Given the description of an element on the screen output the (x, y) to click on. 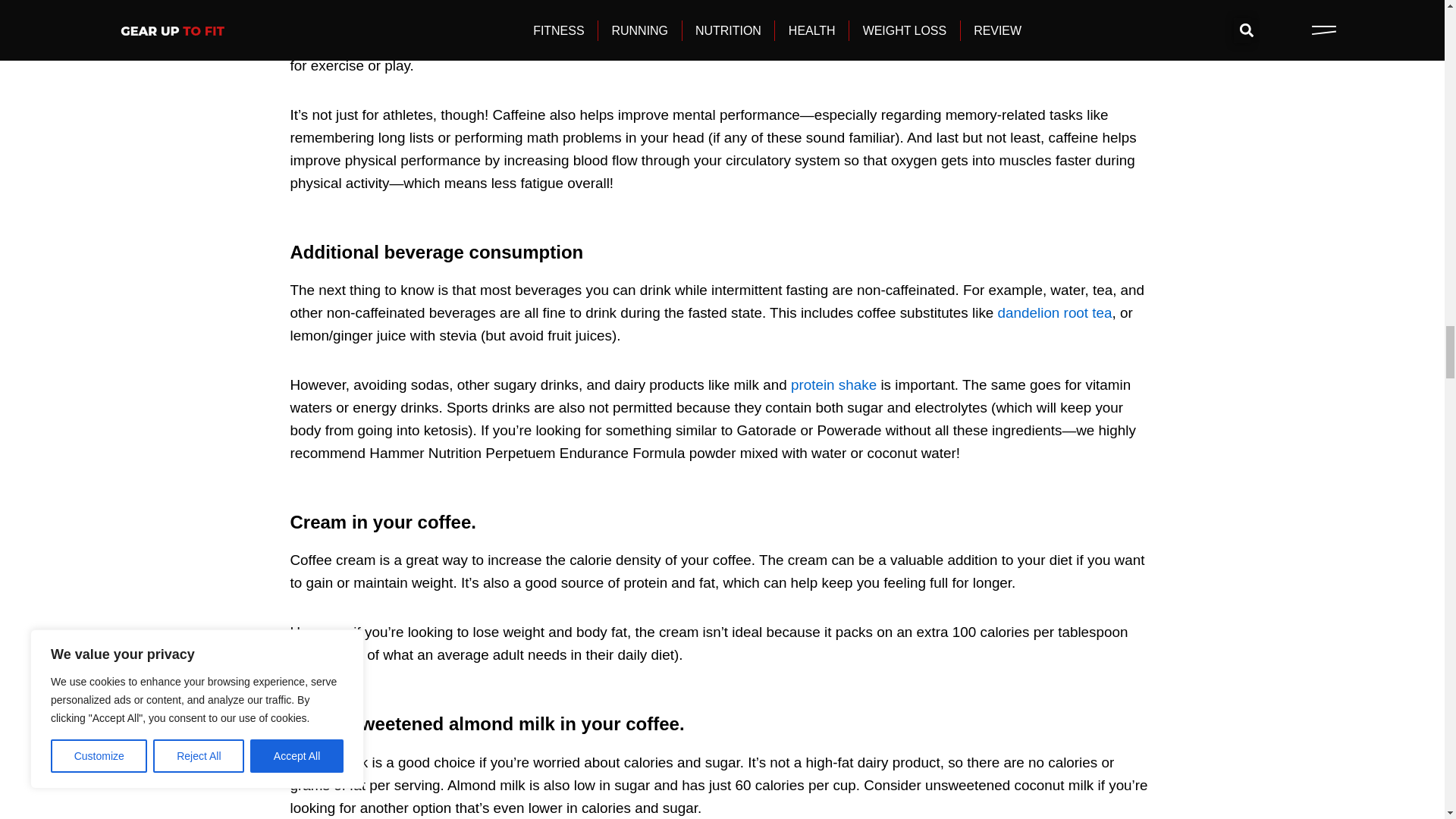
protein shake (833, 384)
